Given the description of an element on the screen output the (x, y) to click on. 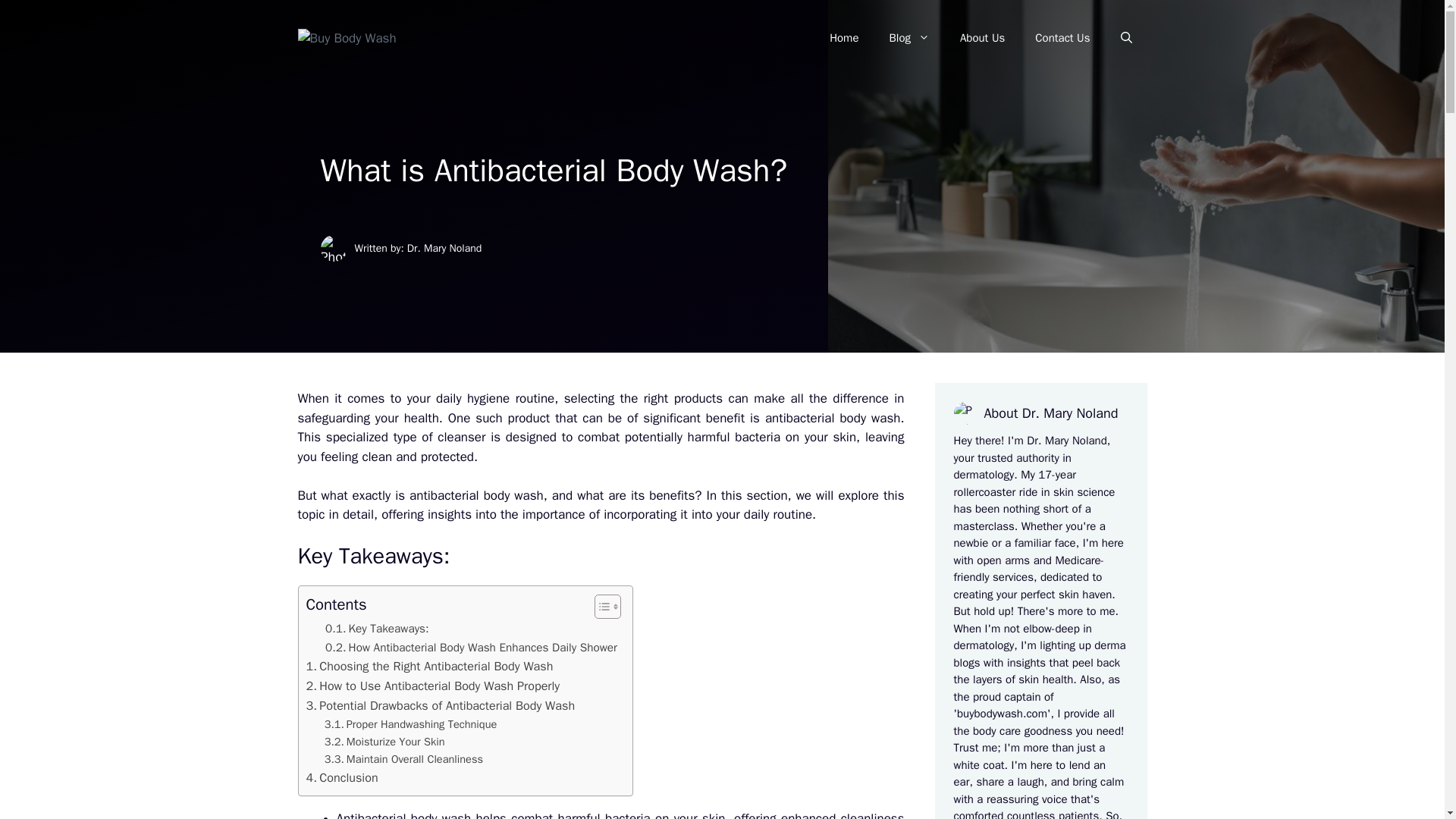
Choosing the Right Antibacterial Body Wash (429, 666)
Moisturize Your Skin (384, 742)
How to Use Antibacterial Body Wash Properly (432, 686)
Proper Handwashing Technique (410, 724)
Maintain Overall Cleanliness (403, 759)
About Us (982, 37)
Potential Drawbacks of Antibacterial Body Wash (440, 705)
Maintain Overall Cleanliness (403, 759)
Potential Drawbacks of Antibacterial Body Wash (440, 705)
Conclusion (341, 777)
